Given the description of an element on the screen output the (x, y) to click on. 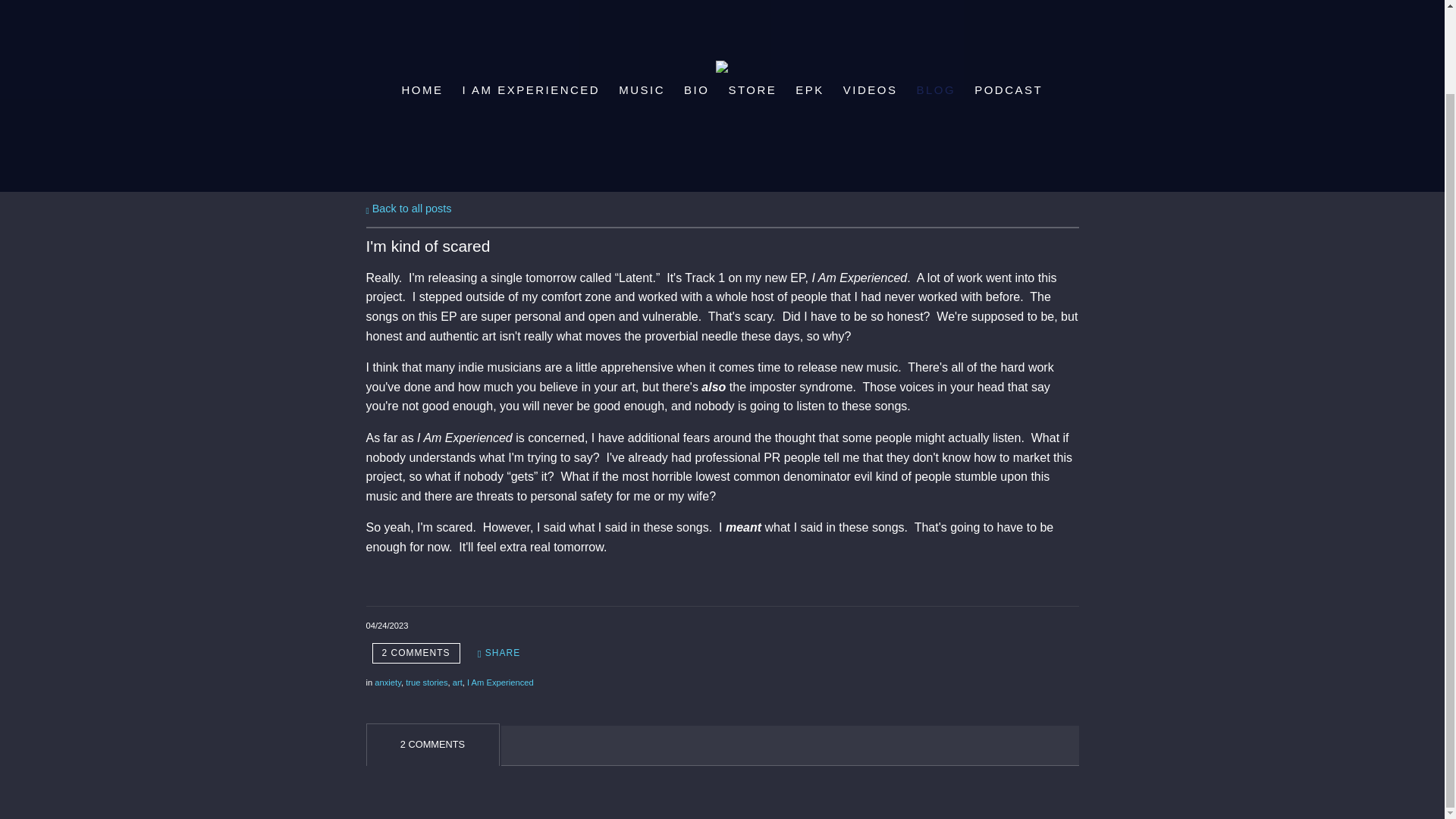
BIO (696, 89)
MUSIC (641, 89)
I AM EXPERIENCED (531, 89)
HOME (422, 89)
STORE (752, 89)
